Given the description of an element on the screen output the (x, y) to click on. 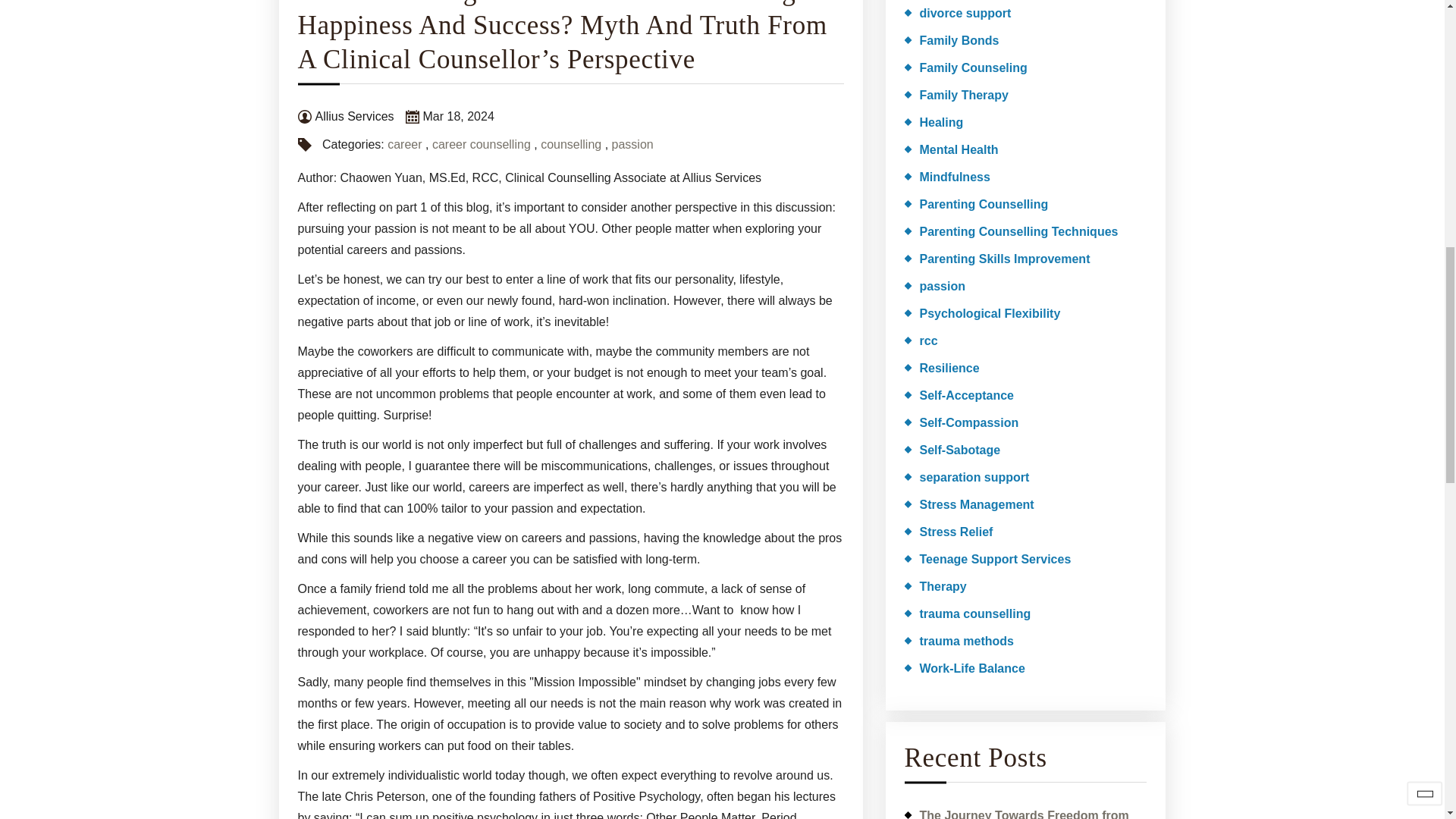
counselling (570, 144)
career counselling (481, 144)
career (404, 144)
passion (632, 144)
